Given the description of an element on the screen output the (x, y) to click on. 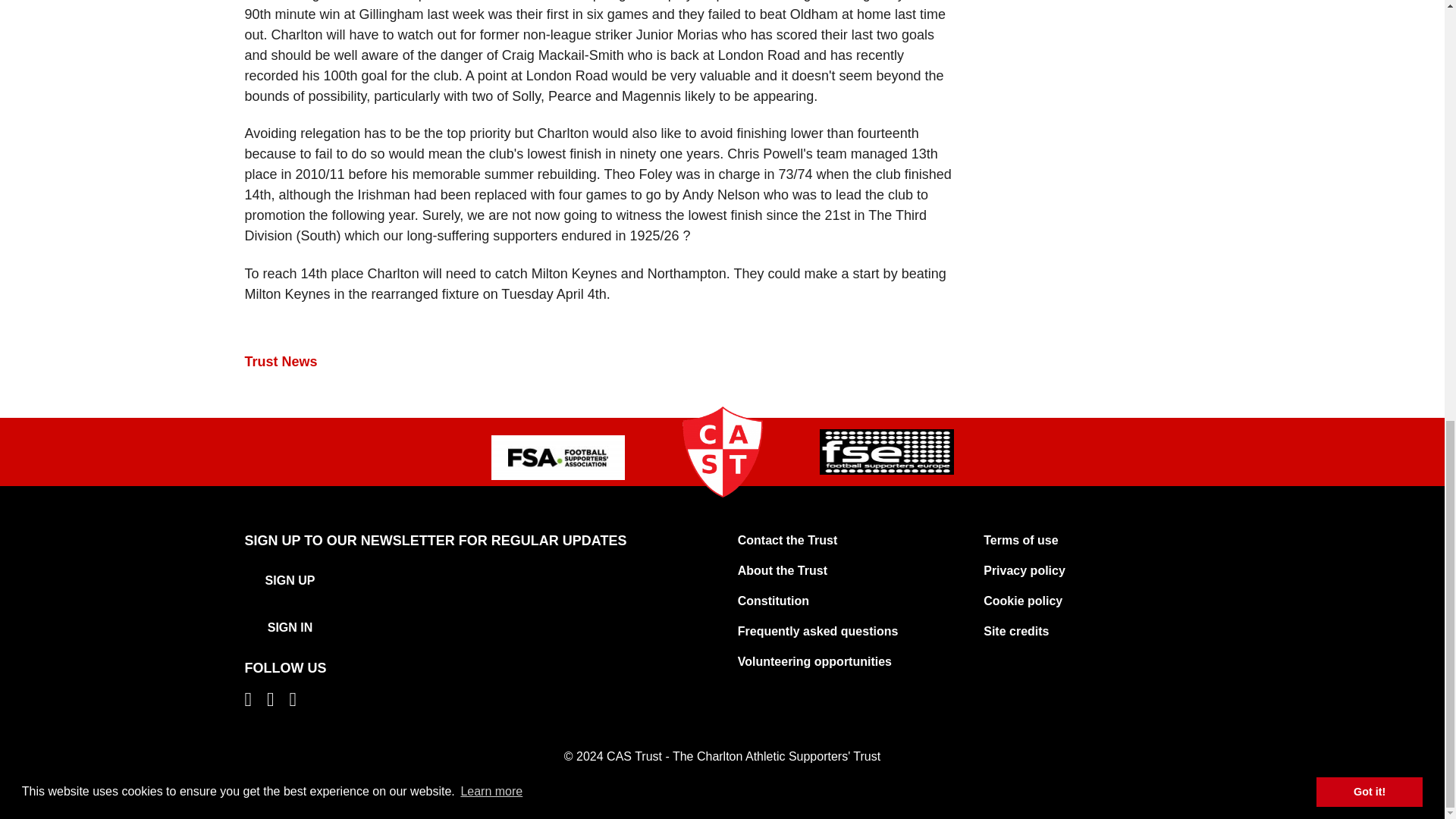
FSA (559, 456)
Trust News (280, 361)
CASTrust-Site-Icon (722, 451)
